Given the description of an element on the screen output the (x, y) to click on. 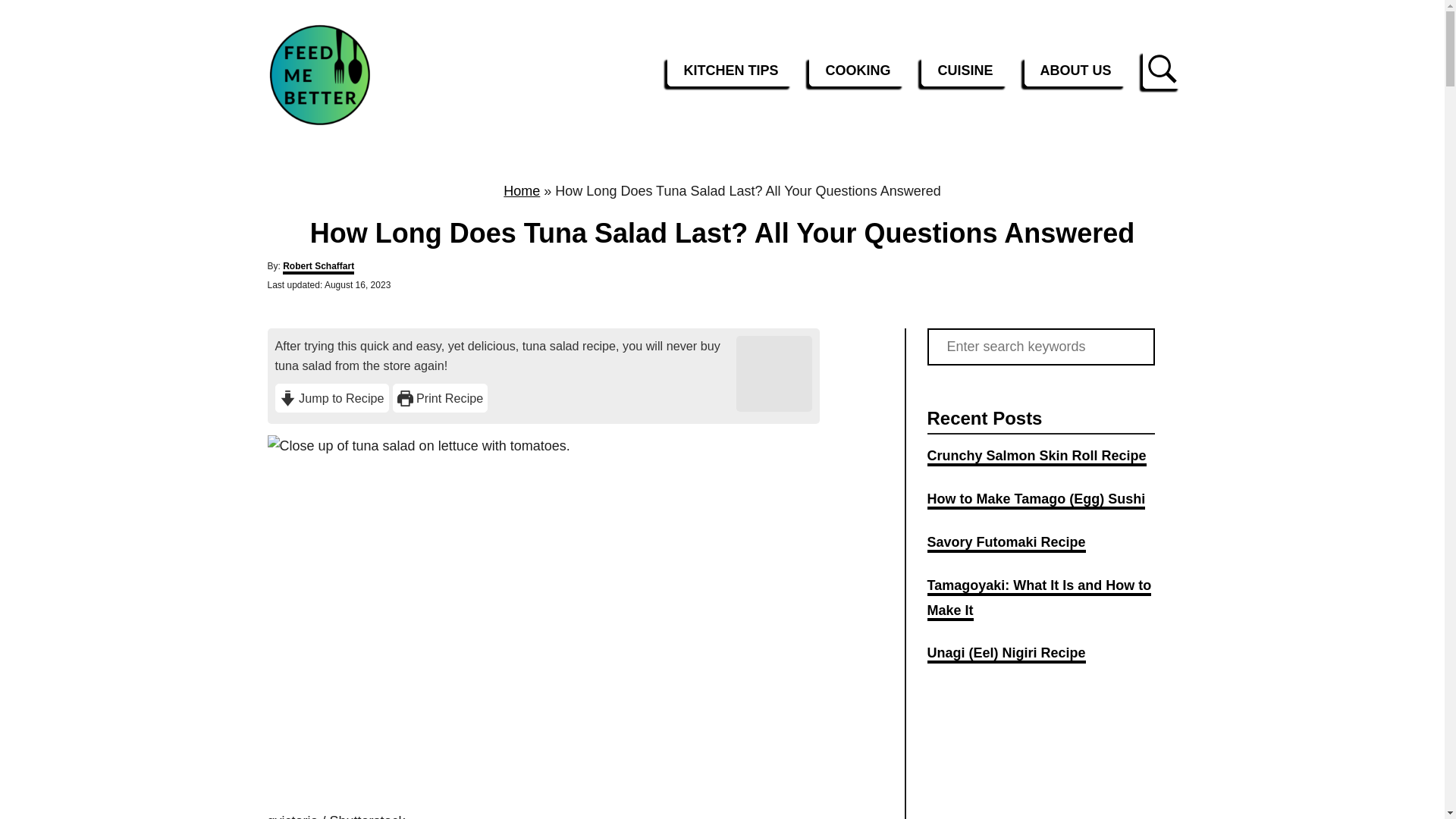
KITCHEN TIPS (729, 70)
Jump to Recipe (331, 398)
ABOUT US (1074, 70)
COOKING (857, 70)
Search for: (1040, 346)
Print Recipe (440, 398)
Home (521, 191)
Robert Schaffart (317, 267)
CUISINE (965, 70)
FeedMeBetter (370, 74)
